Given the description of an element on the screen output the (x, y) to click on. 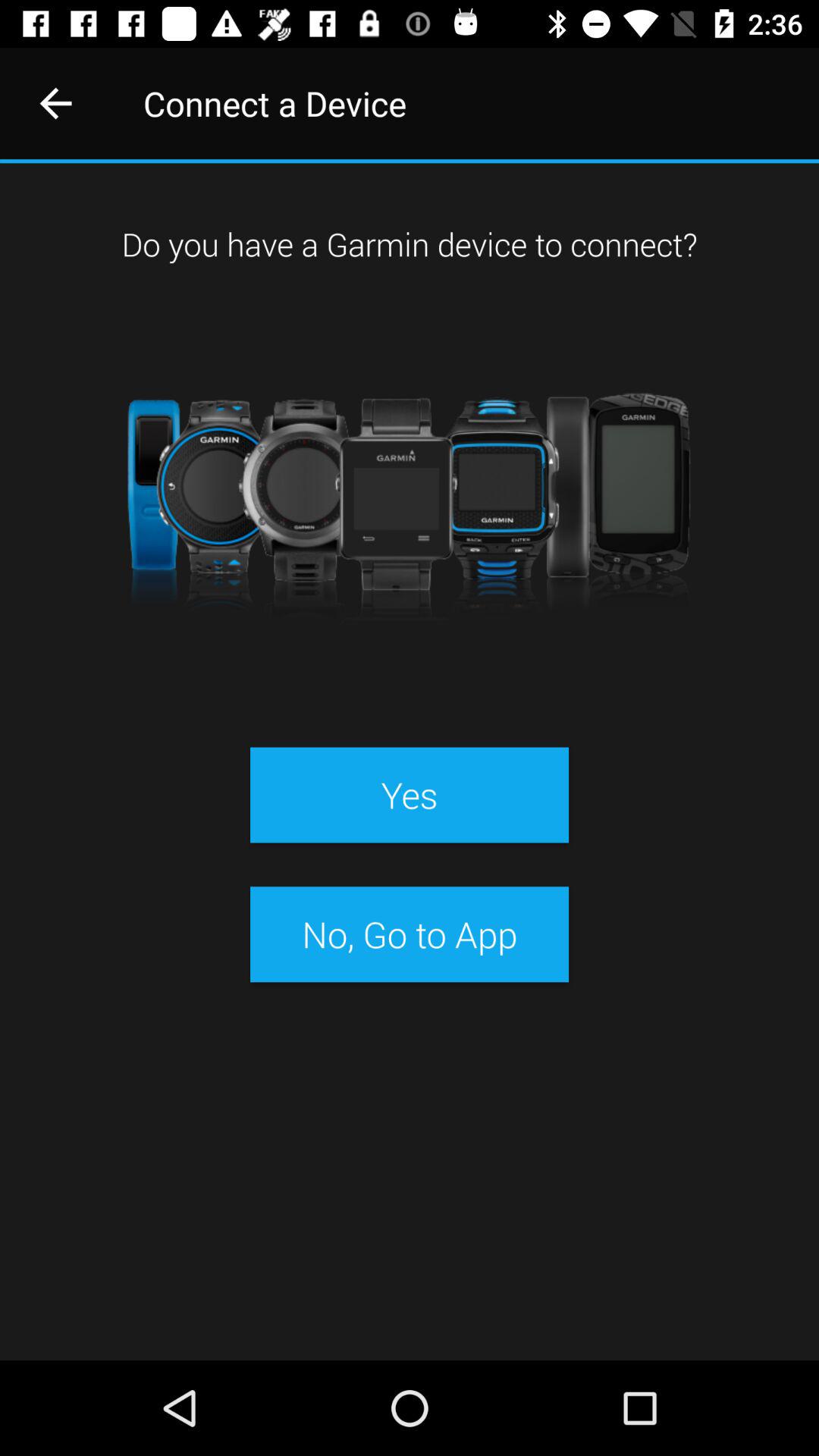
press icon above no go to item (409, 794)
